Given the description of an element on the screen output the (x, y) to click on. 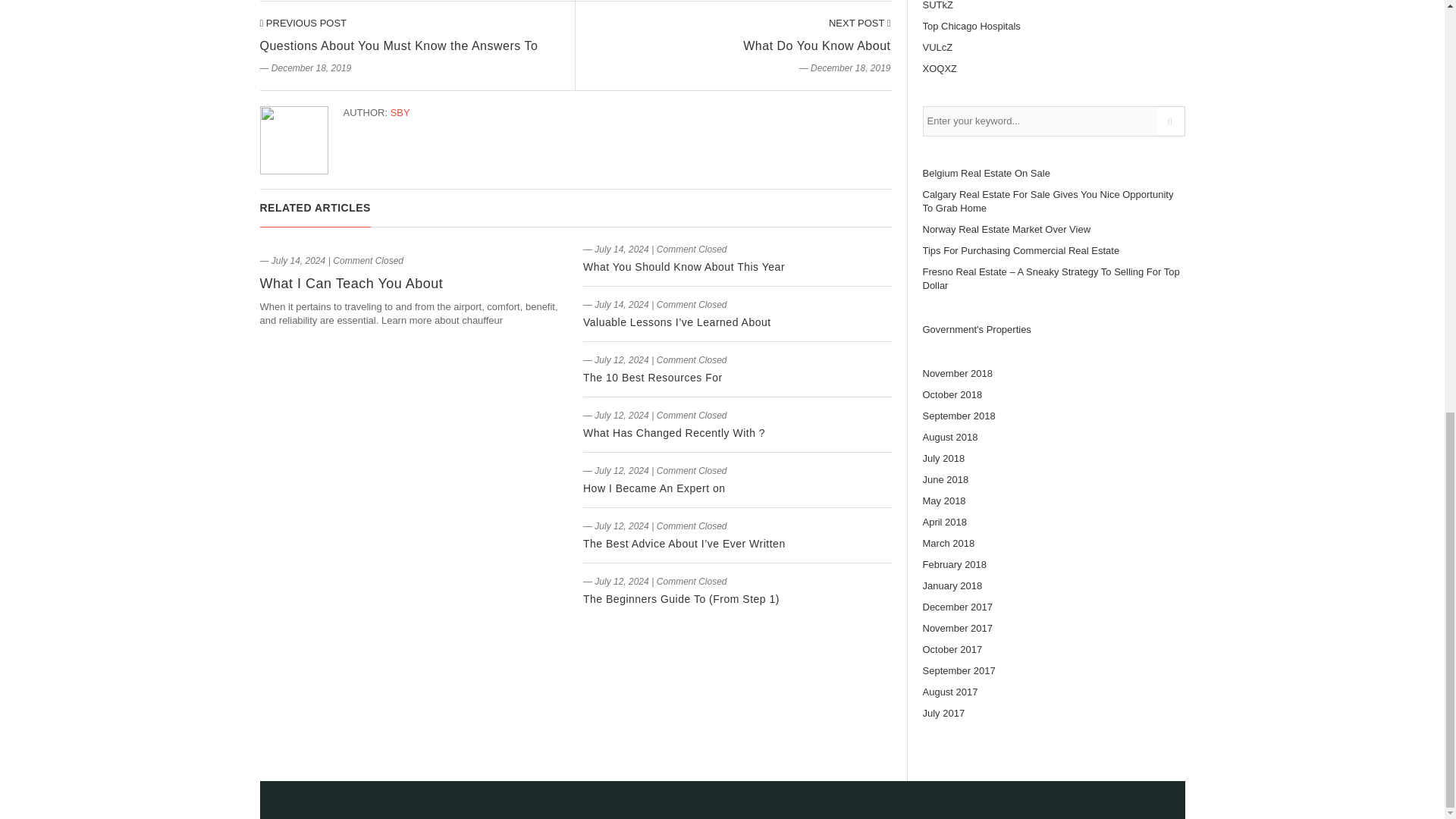
What I Can Teach You About (350, 283)
What Has Changed Recently With ? (674, 432)
How I Became An Expert on (654, 488)
Questions About  You Must Know the Answers To (302, 22)
NEXT POST  (859, 22)
What Do You Know About (859, 22)
SUTkZ (936, 5)
 PREVIOUS POST (302, 22)
How I Became An Expert on (654, 488)
What I Can Teach You About (350, 283)
The 10 Best Resources For (652, 377)
The 10 Best Resources For (652, 377)
What Has Changed Recently With ? (674, 432)
Questions About You Must Know the Answers To (398, 45)
What You Should Know About This Year (683, 266)
